Given the description of an element on the screen output the (x, y) to click on. 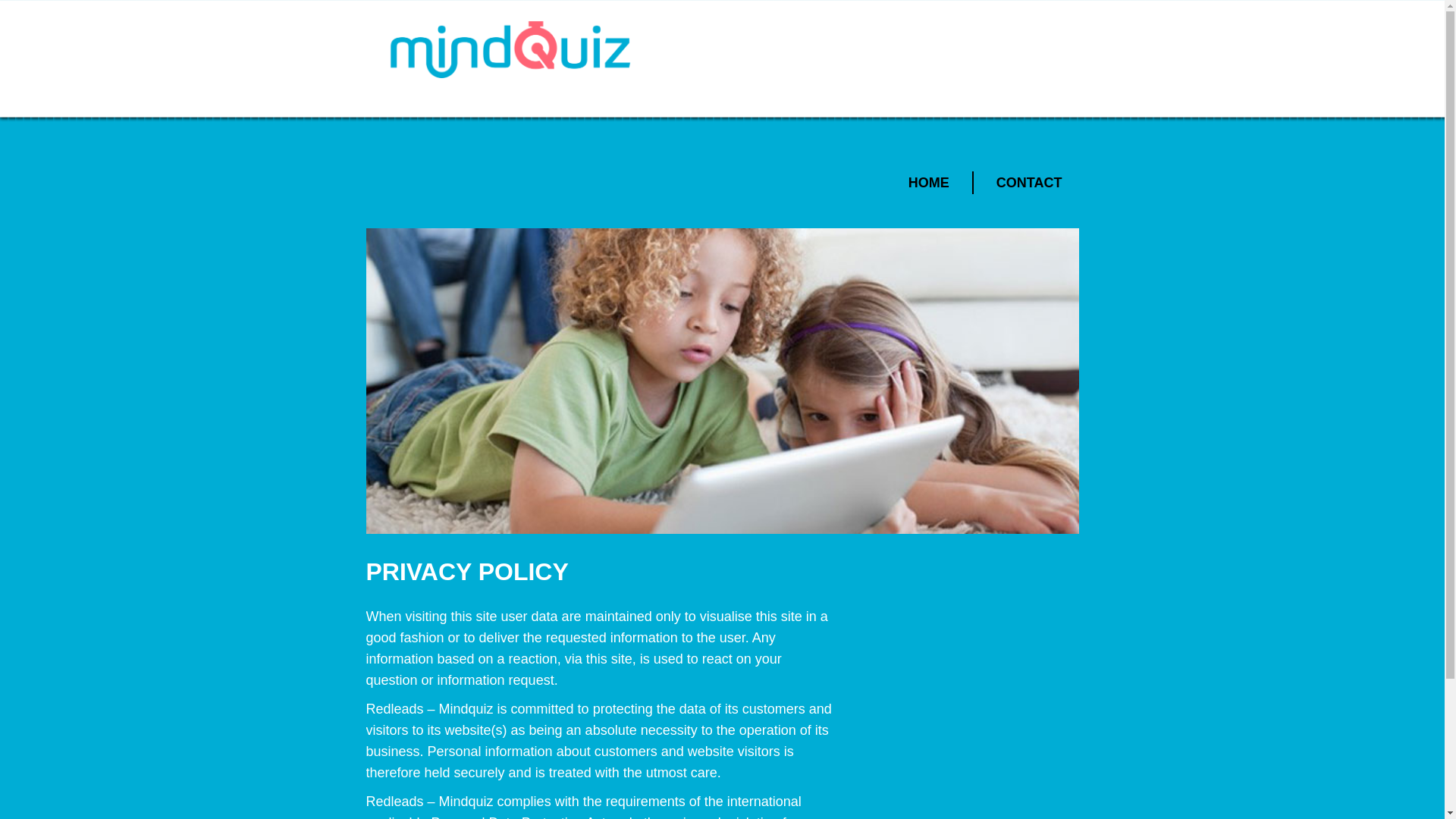
mindquiz (509, 49)
CONTACT (1029, 182)
HOME (928, 182)
